Given the description of an element on the screen output the (x, y) to click on. 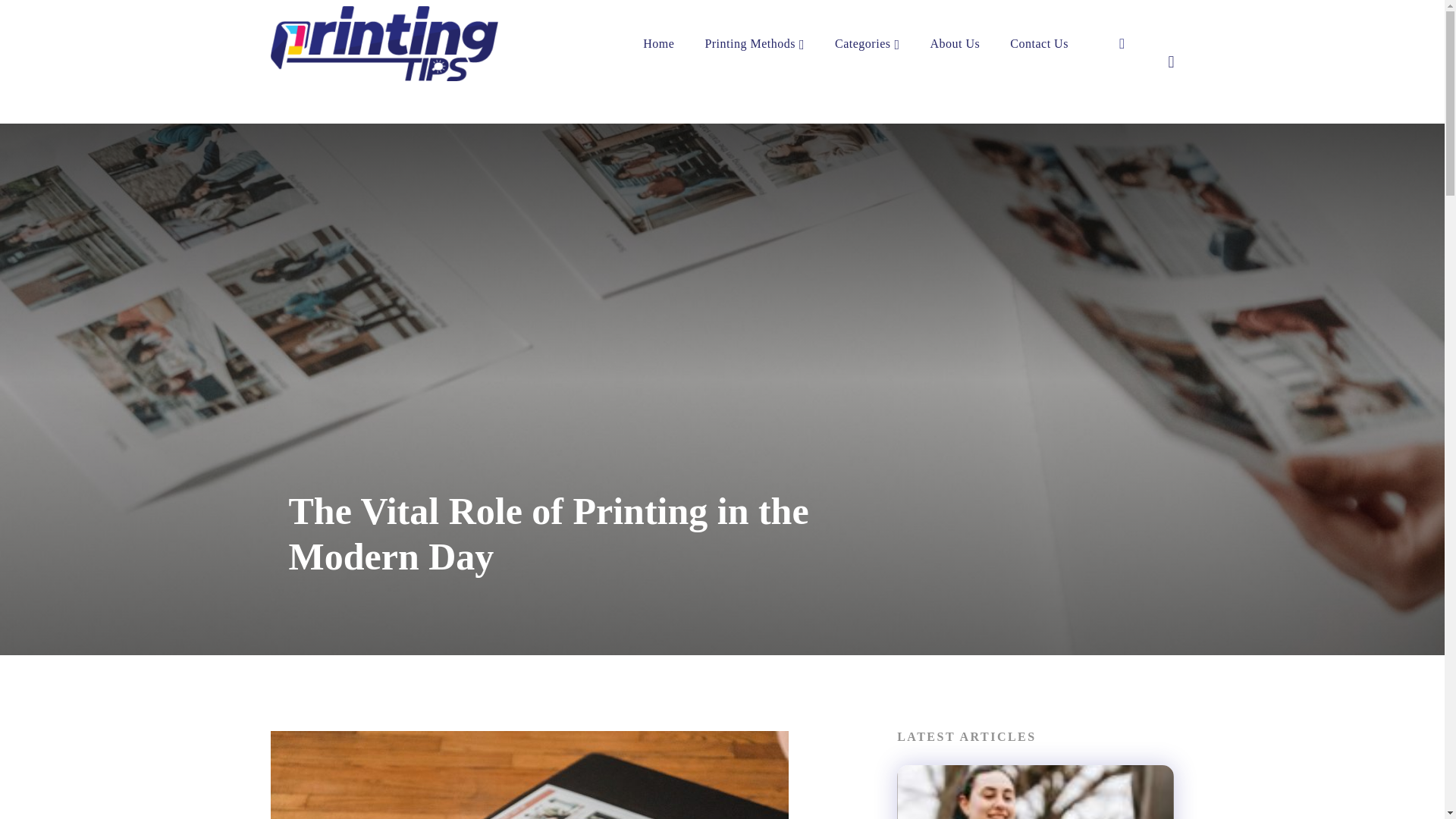
Categories (866, 42)
Contact Us (1039, 42)
Printing Methods (754, 42)
